Given the description of an element on the screen output the (x, y) to click on. 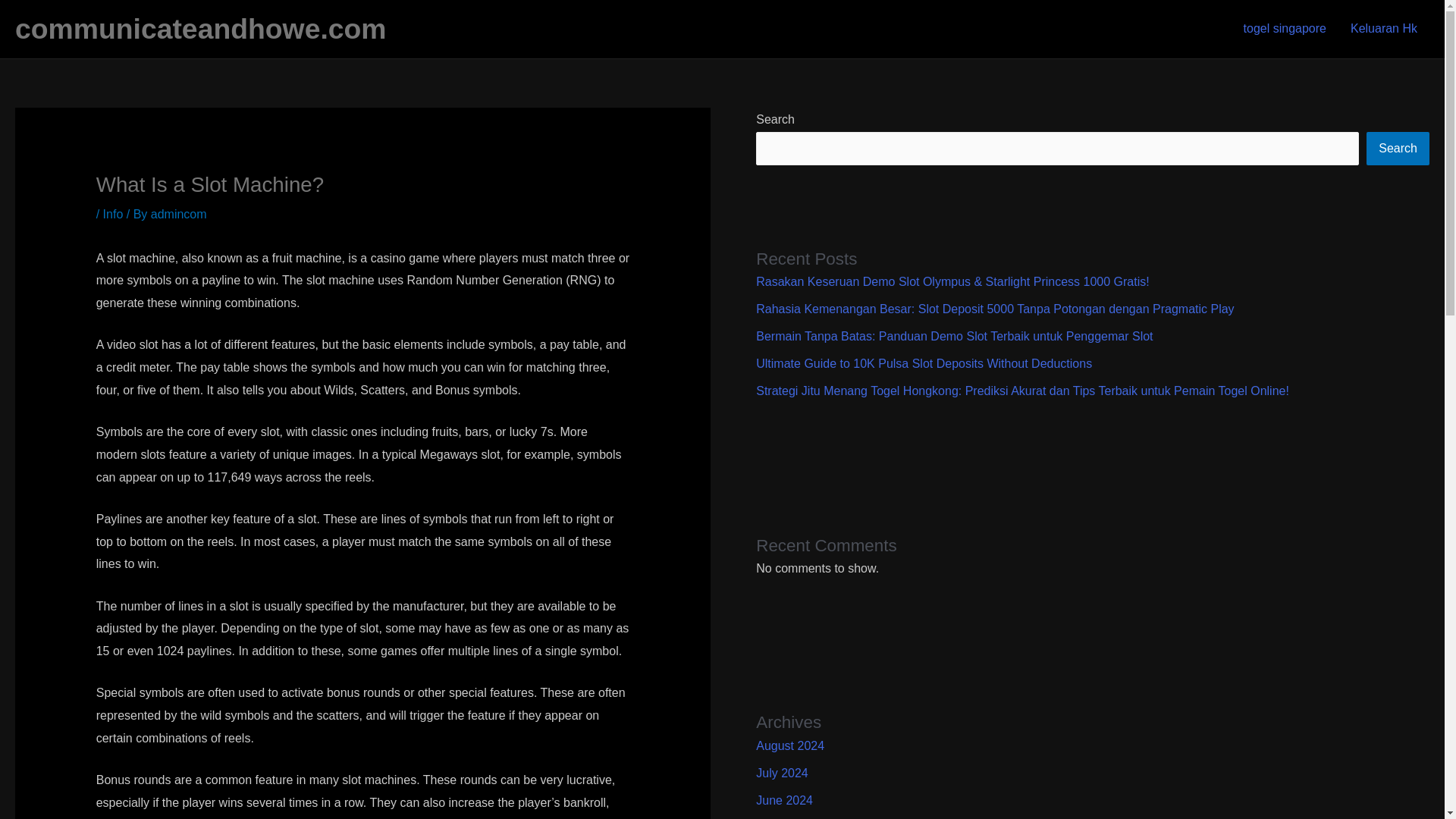
togel singapore (1284, 28)
communicateandhowe.com (200, 29)
Keluaran Hk (1383, 28)
July 2024 (781, 772)
View all posts by admincom (178, 214)
Ultimate Guide to 10K Pulsa Slot Deposits Without Deductions (923, 363)
August 2024 (789, 745)
Info (113, 214)
Search (1398, 148)
June 2024 (783, 799)
admincom (178, 214)
